Given the description of an element on the screen output the (x, y) to click on. 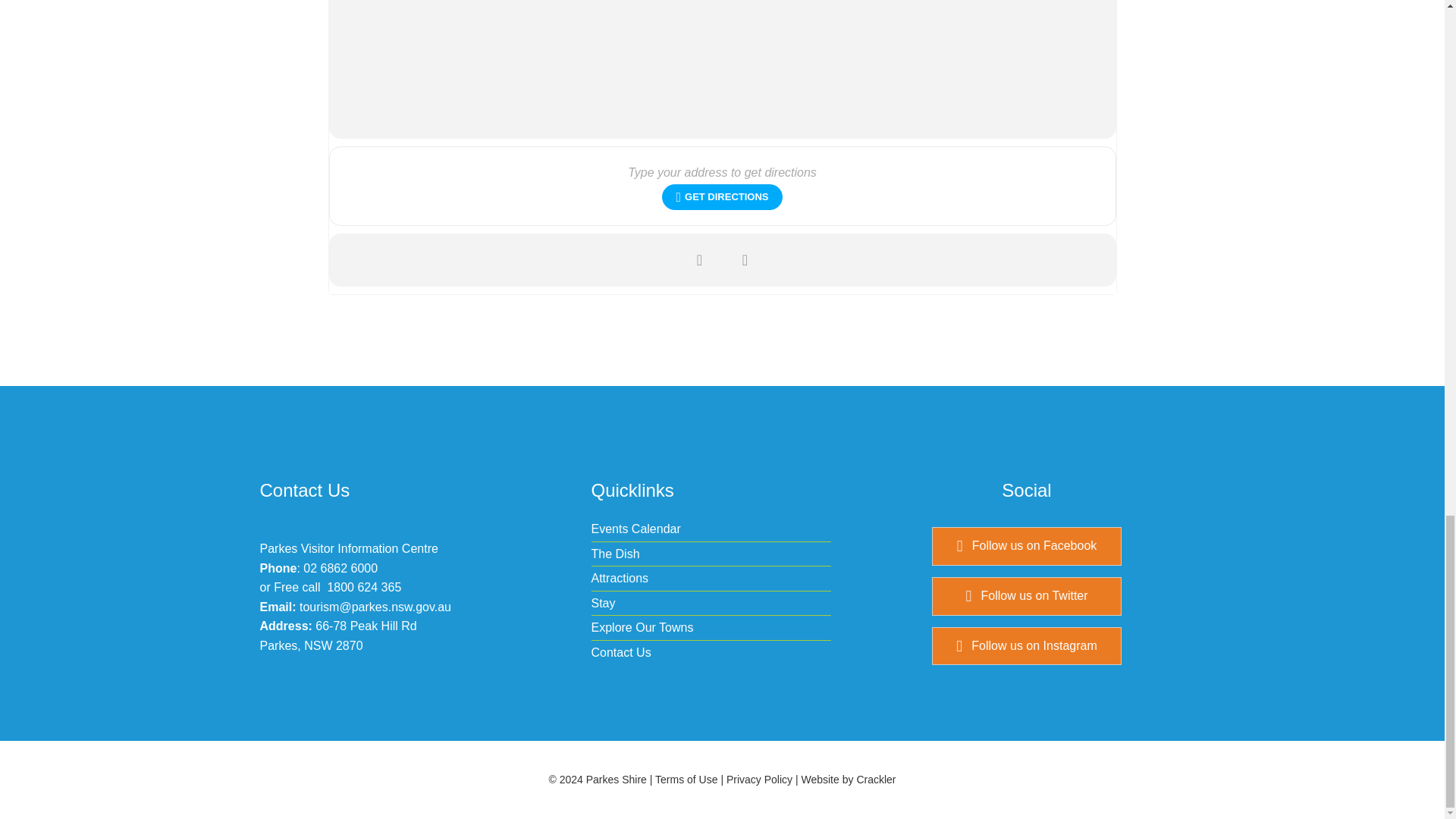
Click here to get directions (721, 196)
Share on facebook (700, 259)
